Given the description of an element on the screen output the (x, y) to click on. 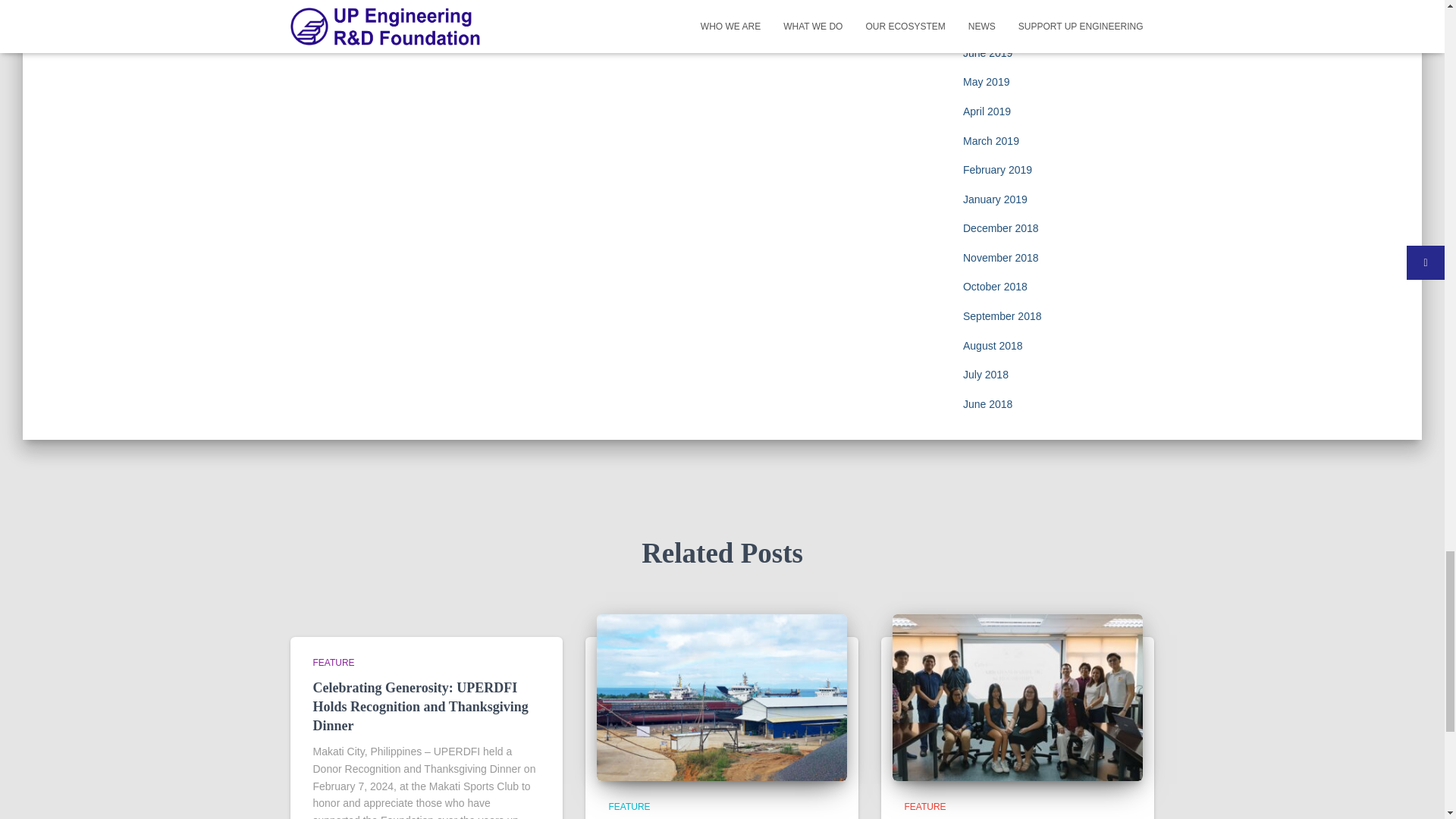
View all posts in Feature (628, 806)
View all posts in Feature (924, 806)
View all posts in Feature (333, 662)
